Given the description of an element on the screen output the (x, y) to click on. 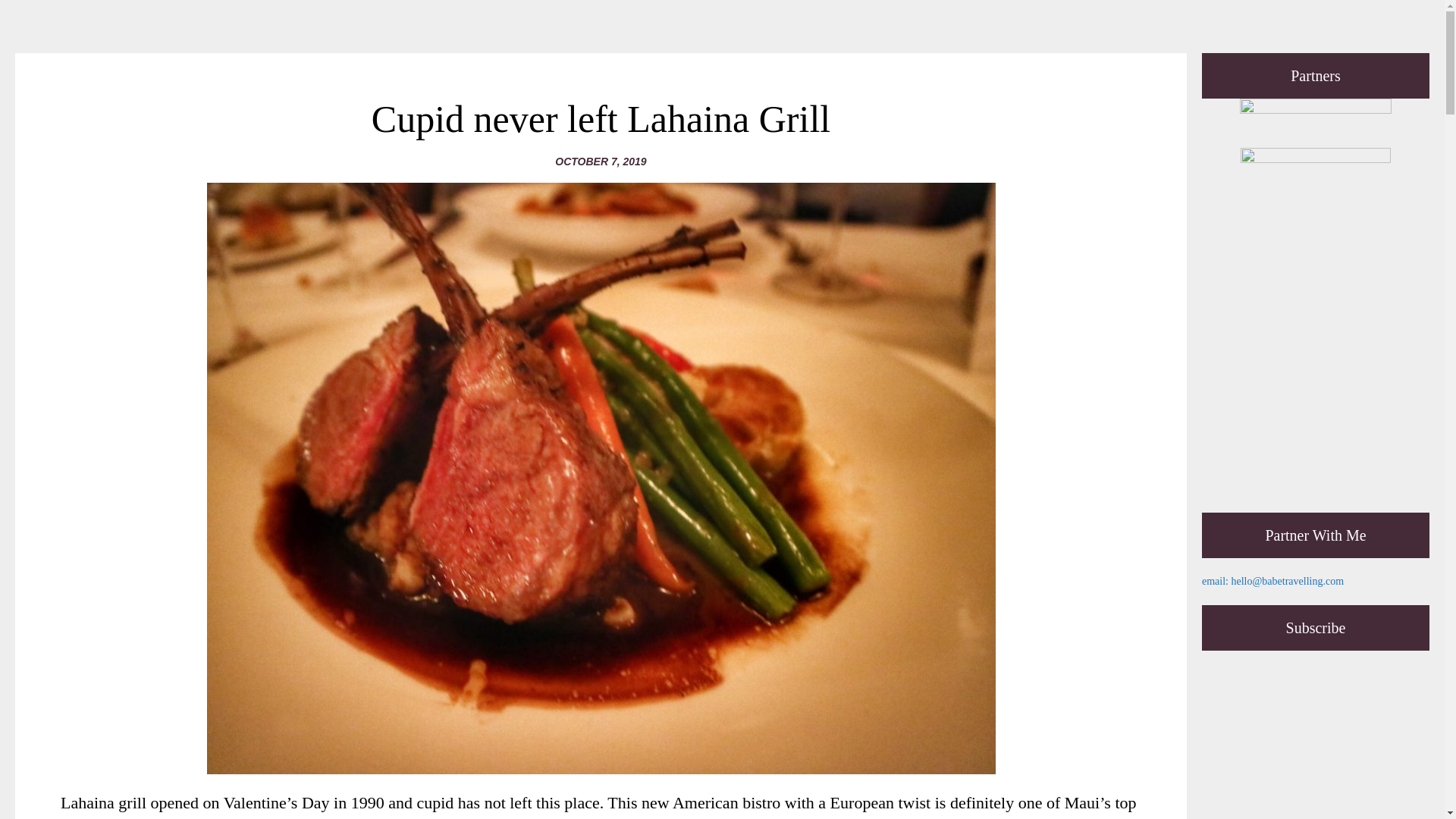
Partners (1315, 115)
